Given the description of an element on the screen output the (x, y) to click on. 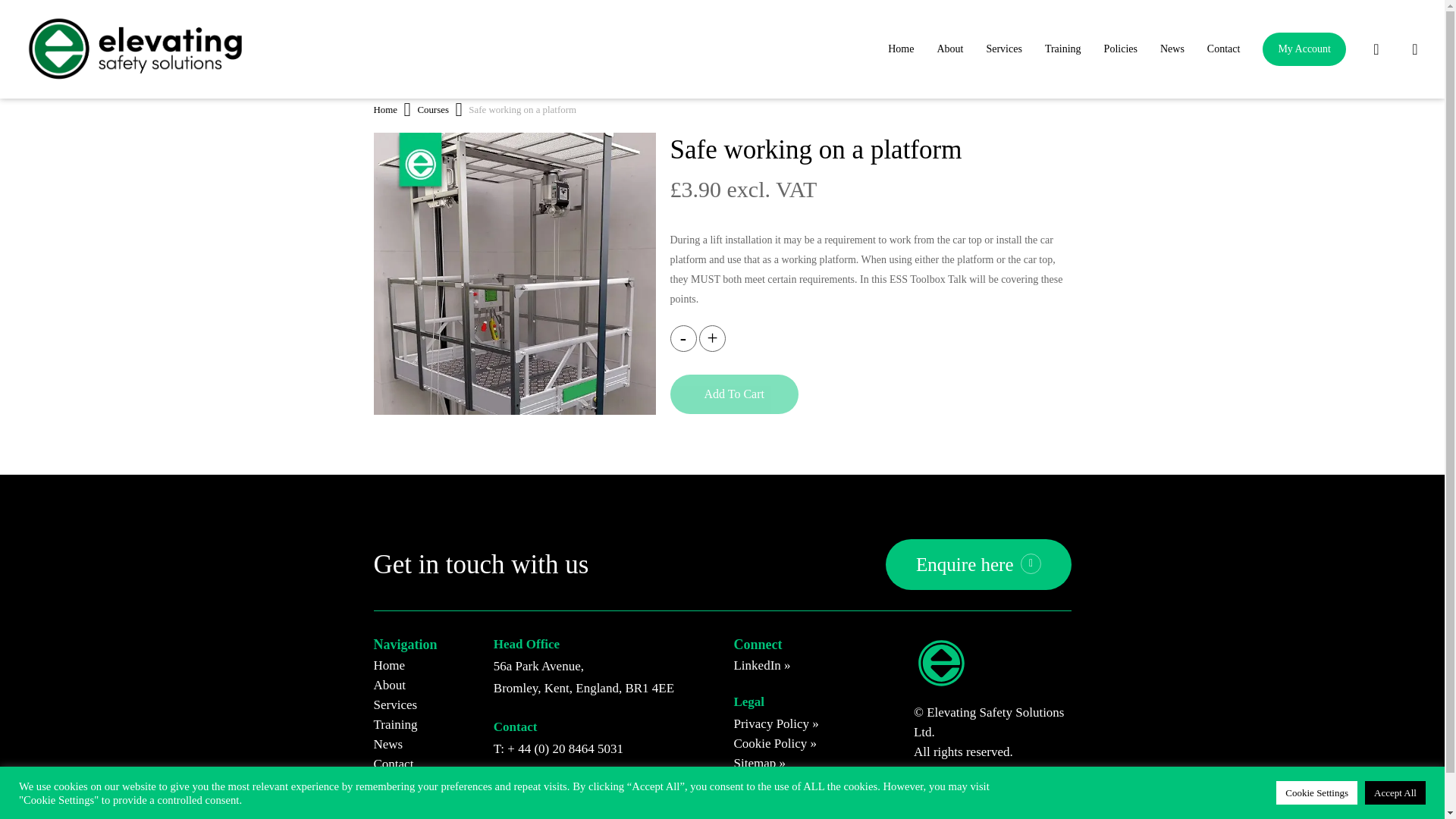
ESS-PRODUCT-feature-temporary moving platform (514, 273)
Services (1003, 48)
About (949, 48)
Policies (1120, 48)
News (1171, 48)
My Account (1303, 49)
- (683, 338)
Home (900, 48)
Add To Cart (733, 394)
Home (384, 110)
Training (1063, 48)
Courses (432, 110)
Contact (1223, 48)
search (1376, 48)
